Given the description of an element on the screen output the (x, y) to click on. 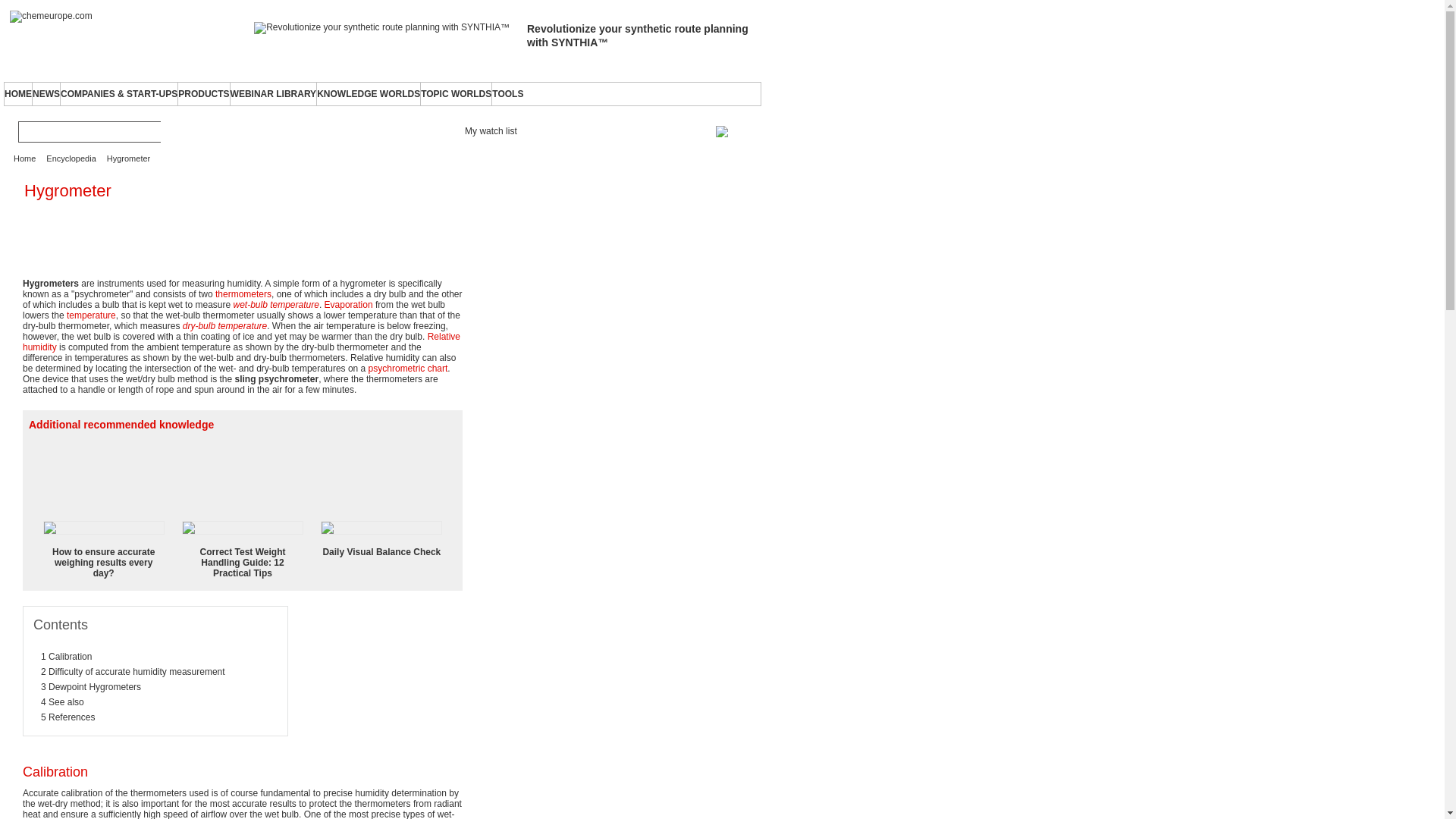
thermometers (242, 294)
1 Calibration (65, 656)
4 See also (62, 701)
wet-bulb temperature (275, 304)
go (171, 131)
5 References (67, 716)
Evaporation (348, 304)
My watch list (487, 131)
Temperature (91, 315)
Psychrometrics (408, 368)
go (171, 131)
Encyclopedia (71, 157)
temperature (91, 315)
Thermometer (242, 294)
